Given the description of an element on the screen output the (x, y) to click on. 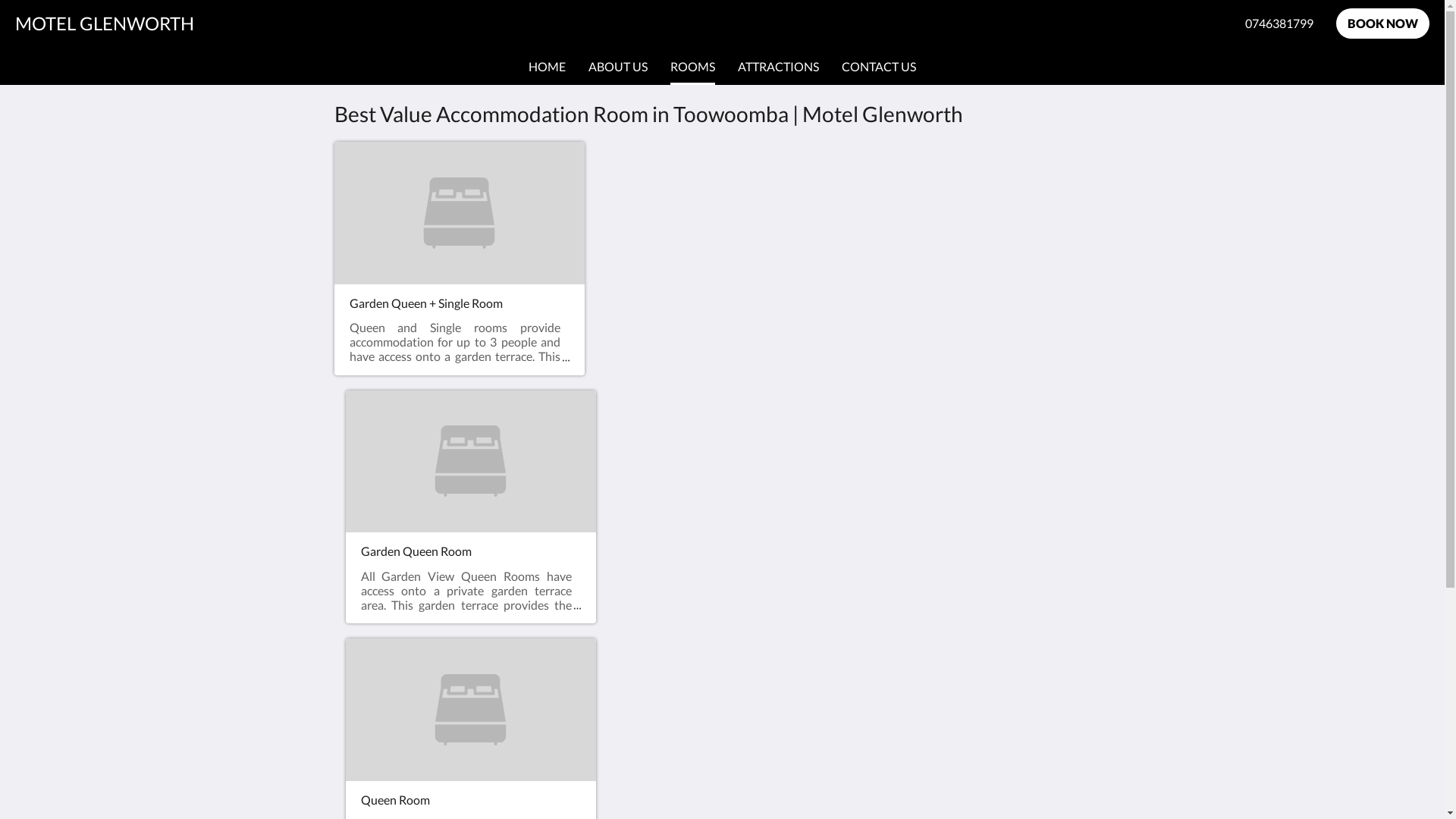
0746381799 Element type: text (1278, 23)
CONTACT US Element type: text (878, 66)
BOOK NOW Element type: text (1382, 23)
ROOMS Element type: text (692, 66)
ATTRACTIONS Element type: text (778, 66)
ABOUT US Element type: text (617, 66)
HOME Element type: text (546, 66)
MOTEL GLENWORTH Element type: text (104, 22)
